Given the description of an element on the screen output the (x, y) to click on. 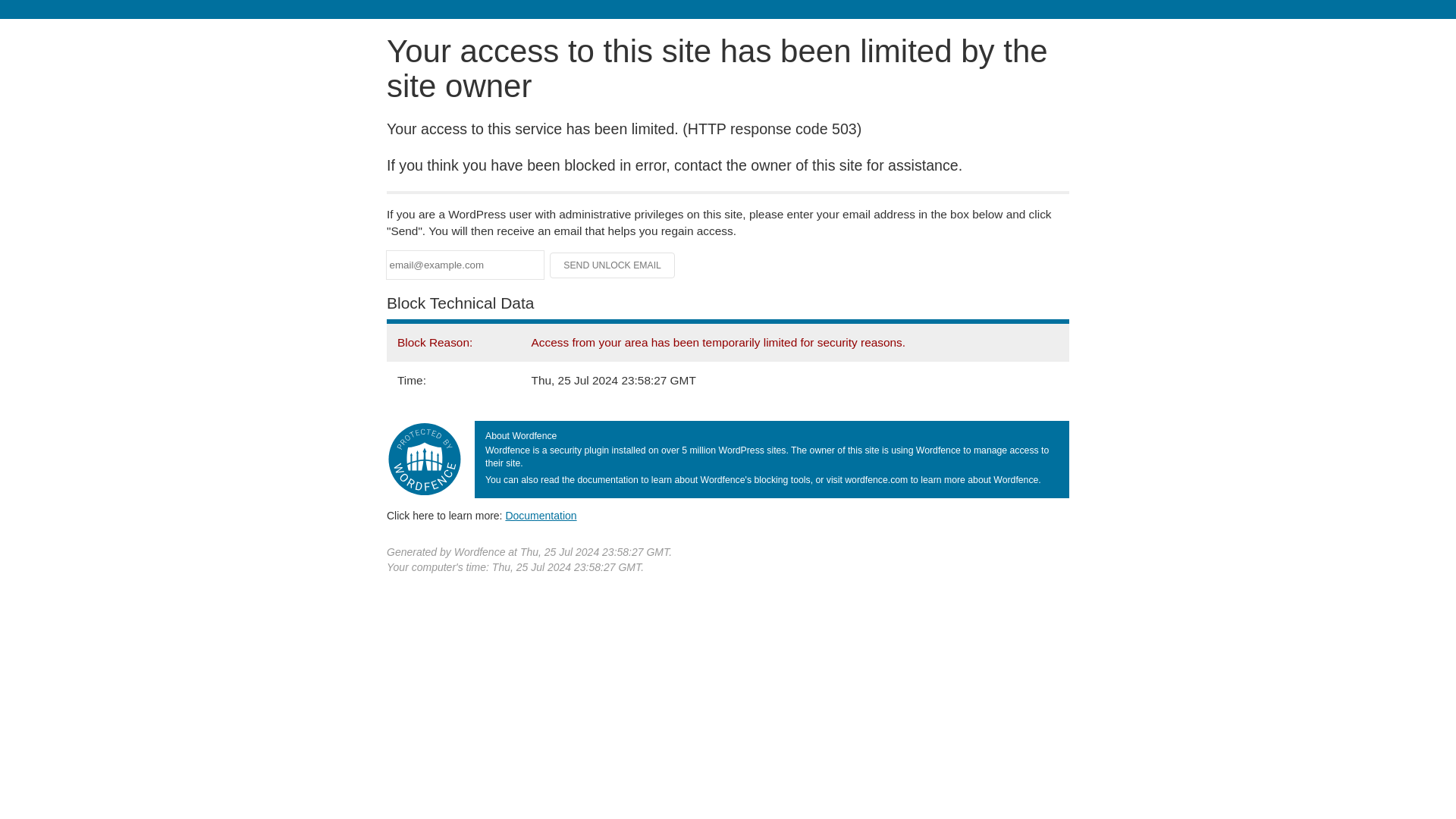
Documentation (540, 515)
Send Unlock Email (612, 265)
Send Unlock Email (612, 265)
